Given the description of an element on the screen output the (x, y) to click on. 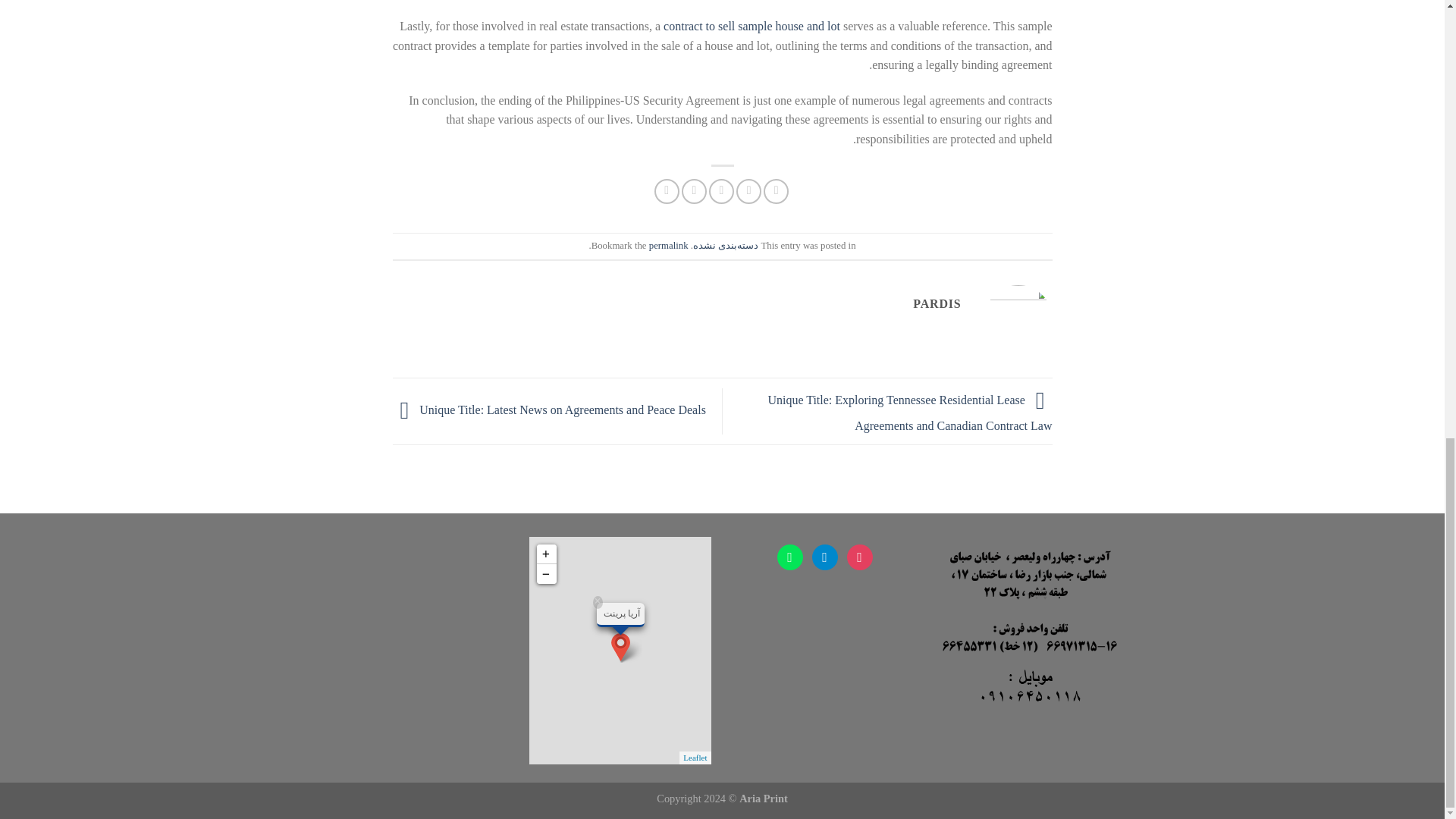
A JS library for interactive maps (694, 757)
Zoom in (546, 553)
Zoom out (546, 573)
